Given the description of an element on the screen output the (x, y) to click on. 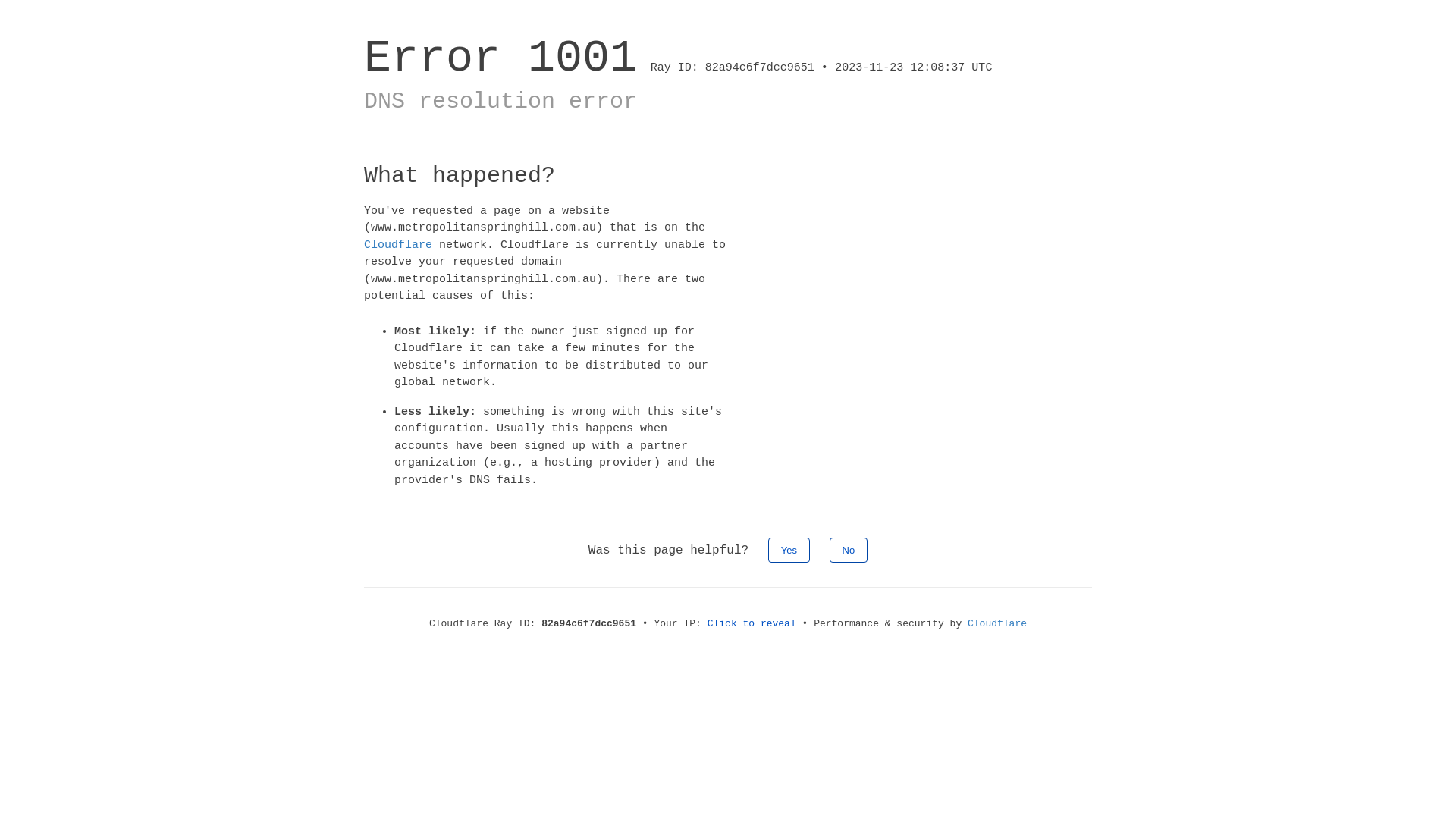
No Element type: text (848, 549)
Yes Element type: text (788, 549)
Cloudflare Element type: text (996, 623)
Click to reveal Element type: text (751, 623)
Cloudflare Element type: text (398, 244)
